Given the description of an element on the screen output the (x, y) to click on. 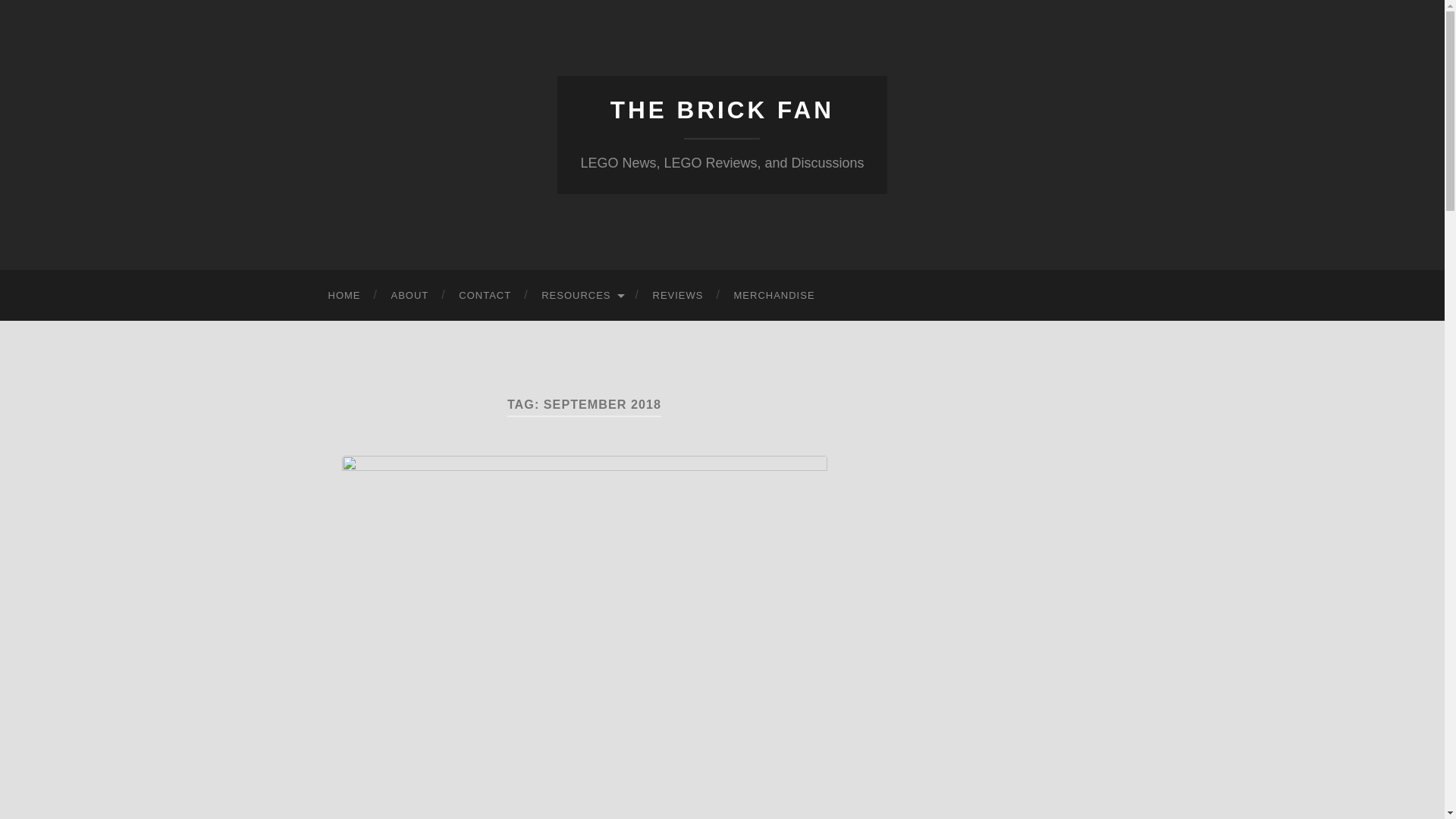
HOME (344, 295)
THE BRICK FAN (722, 109)
MERCHANDISE (774, 295)
ABOUT (409, 295)
CONTACT (484, 295)
REVIEWS (678, 295)
RESOURCES (581, 295)
